Given the description of an element on the screen output the (x, y) to click on. 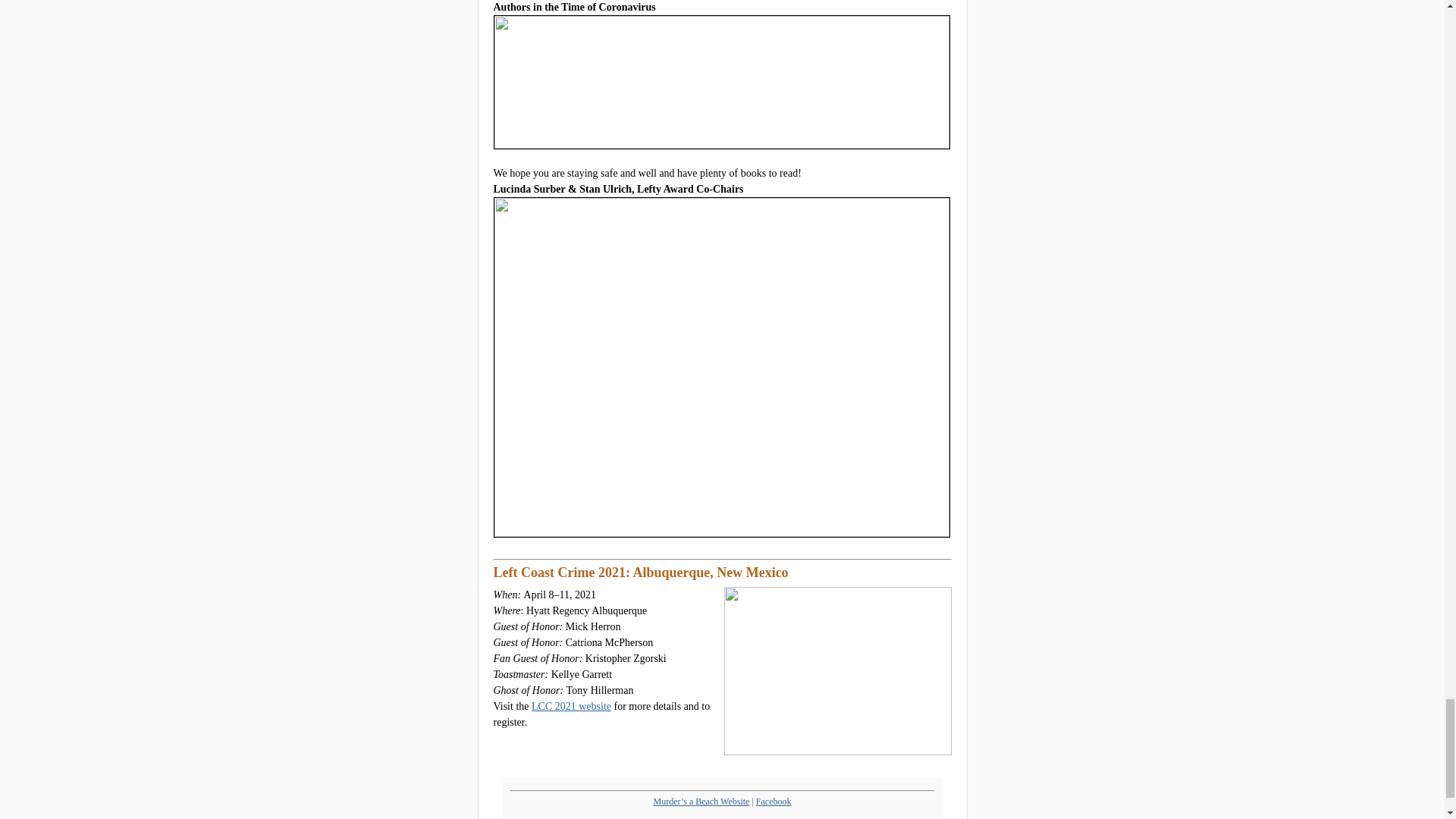
LCC 2021 website (571, 706)
Facebook (773, 801)
